Given the description of an element on the screen output the (x, y) to click on. 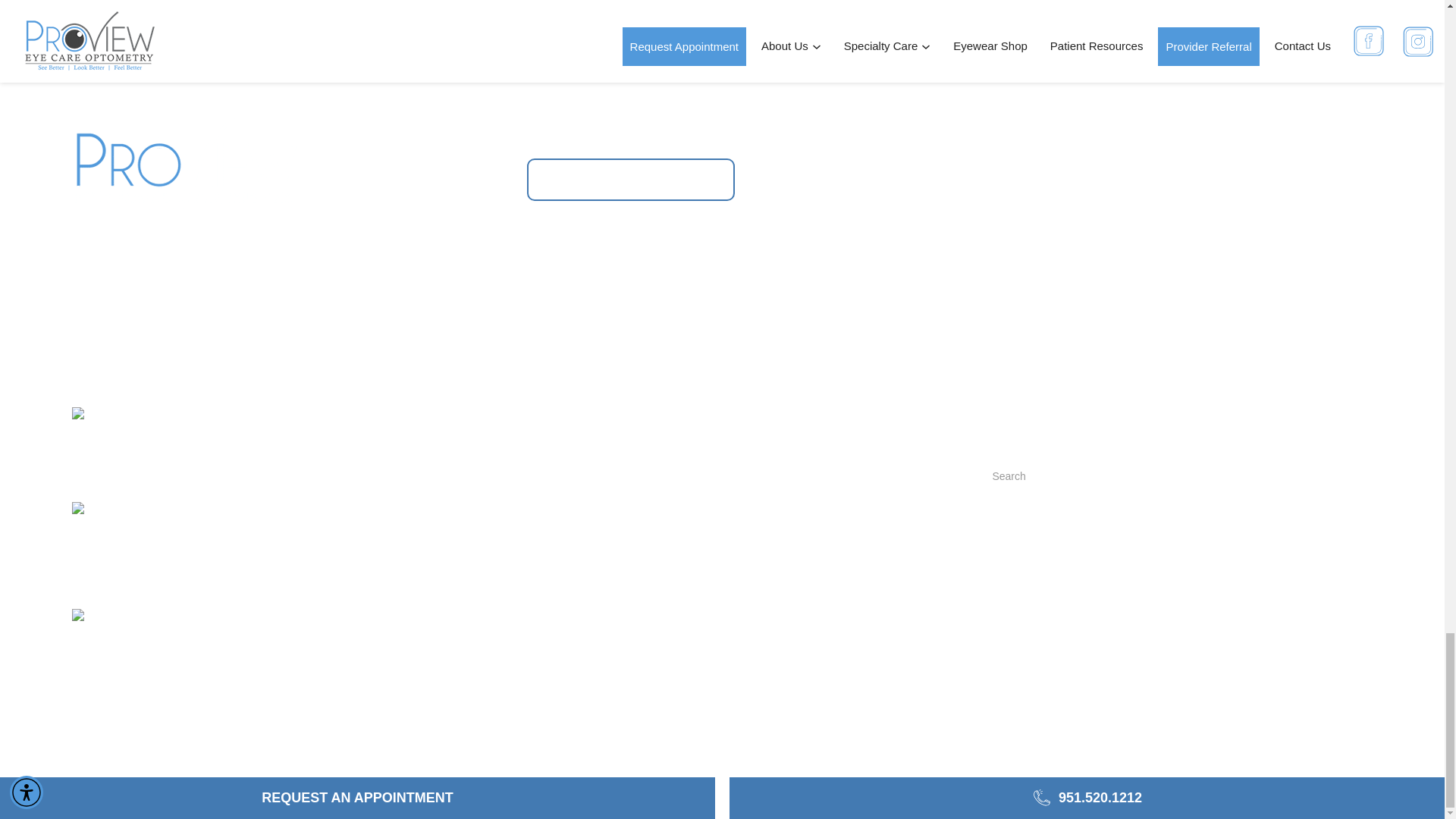
Search (1033, 517)
Link to the Glacial Multimedia website (207, 714)
Search for: (1176, 475)
